Given the description of an element on the screen output the (x, y) to click on. 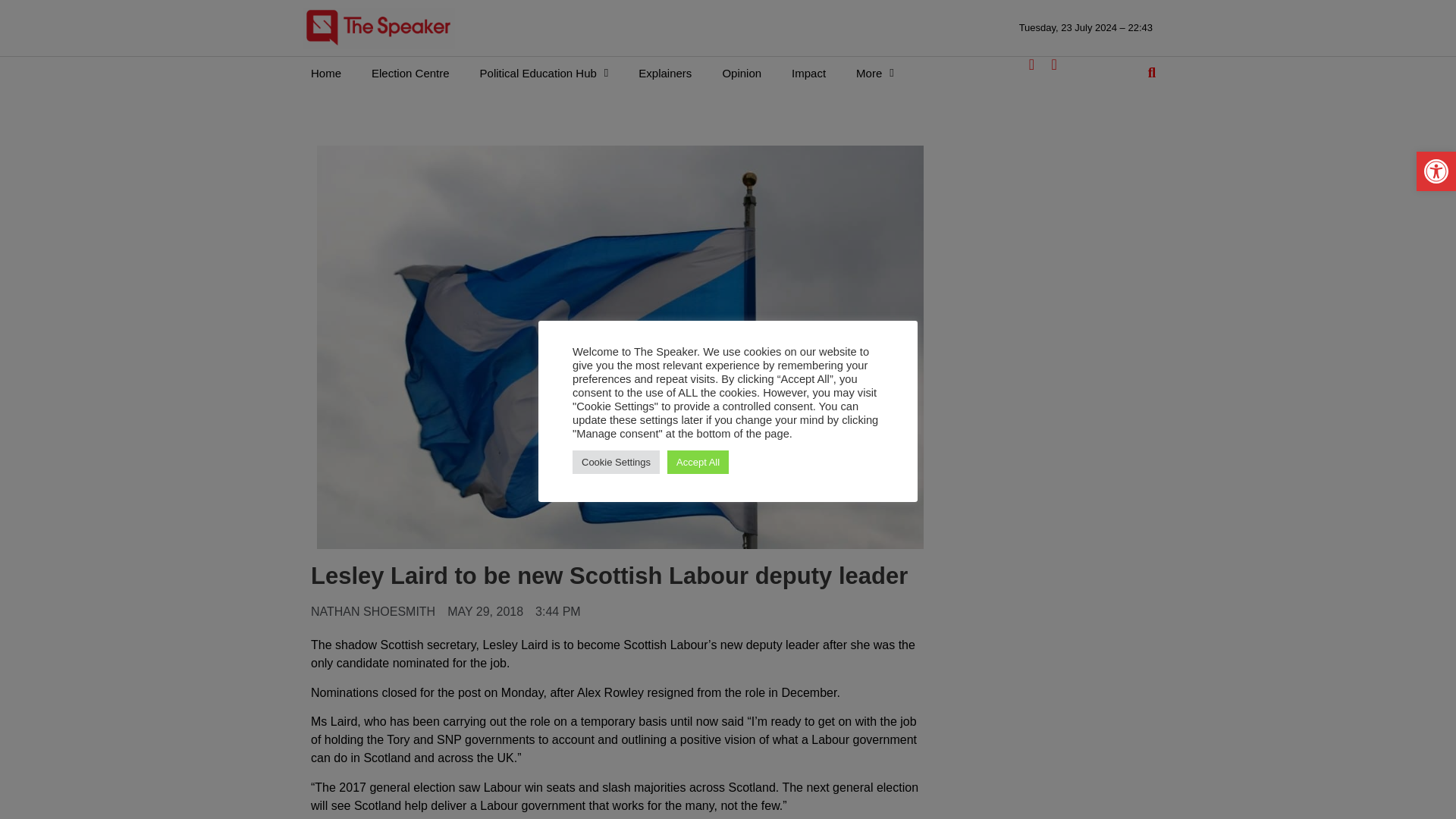
Impact (808, 73)
The Speaker (378, 27)
Home (325, 73)
Political Education Hub (544, 73)
Election Centre (410, 73)
More (874, 73)
Opinion (741, 73)
Accessibility Tools (1435, 170)
Explainers (664, 73)
